Given the description of an element on the screen output the (x, y) to click on. 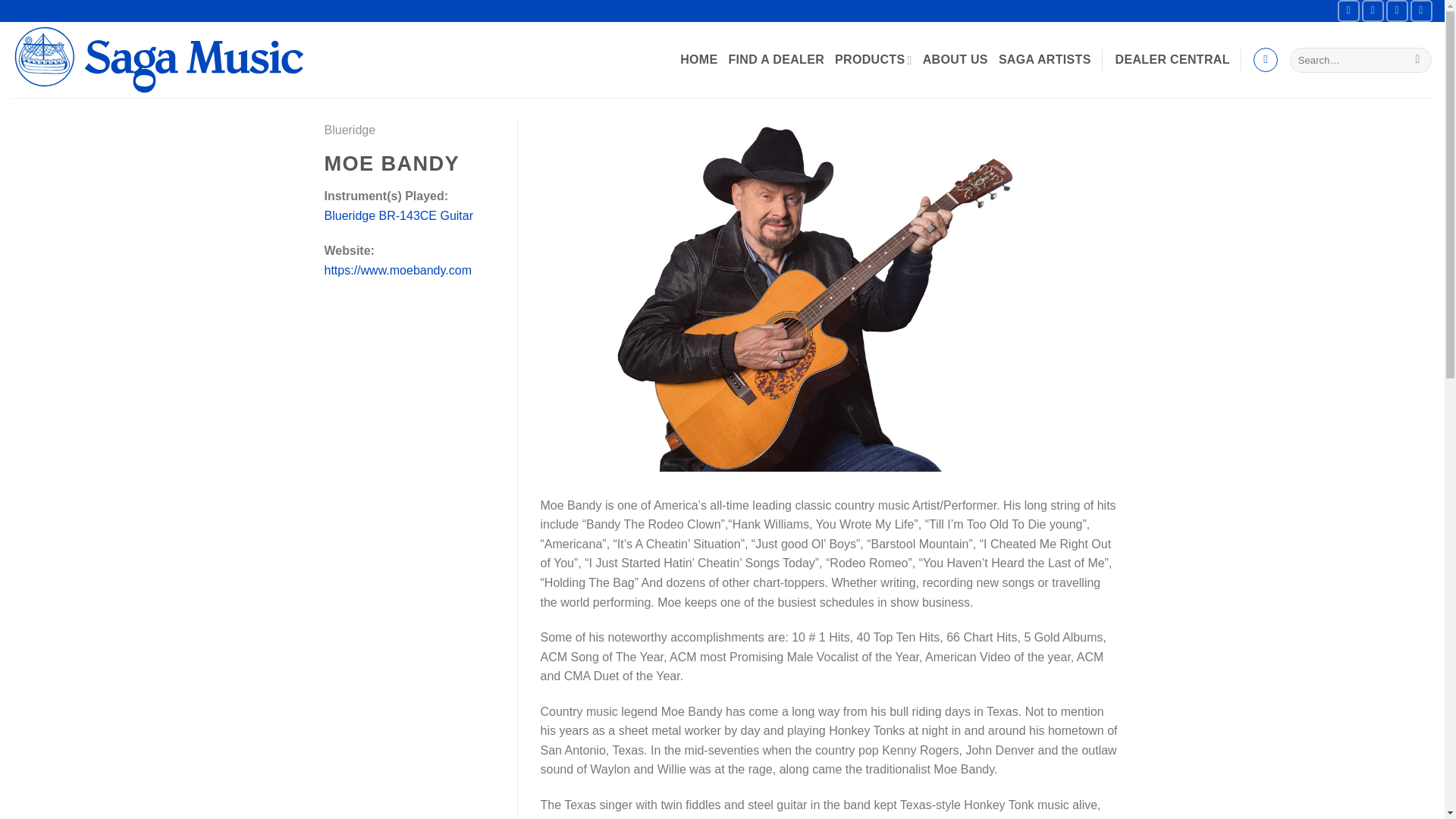
LOGIN (1171, 59)
ABOUT US (955, 59)
PRODUCTS (873, 60)
FIND A DEALER (777, 59)
Saga Musical Instruments (163, 59)
Cart (1265, 59)
Blueridge BR-143CE Guitar (399, 215)
Follow on Twitter (1396, 11)
SAGA ARTISTS (1044, 59)
Follow on Facebook (1348, 11)
Follow on Instagram (1372, 11)
Follow on YouTube (1421, 11)
Search (1417, 60)
Blueridge (349, 129)
HOME (698, 59)
